Given the description of an element on the screen output the (x, y) to click on. 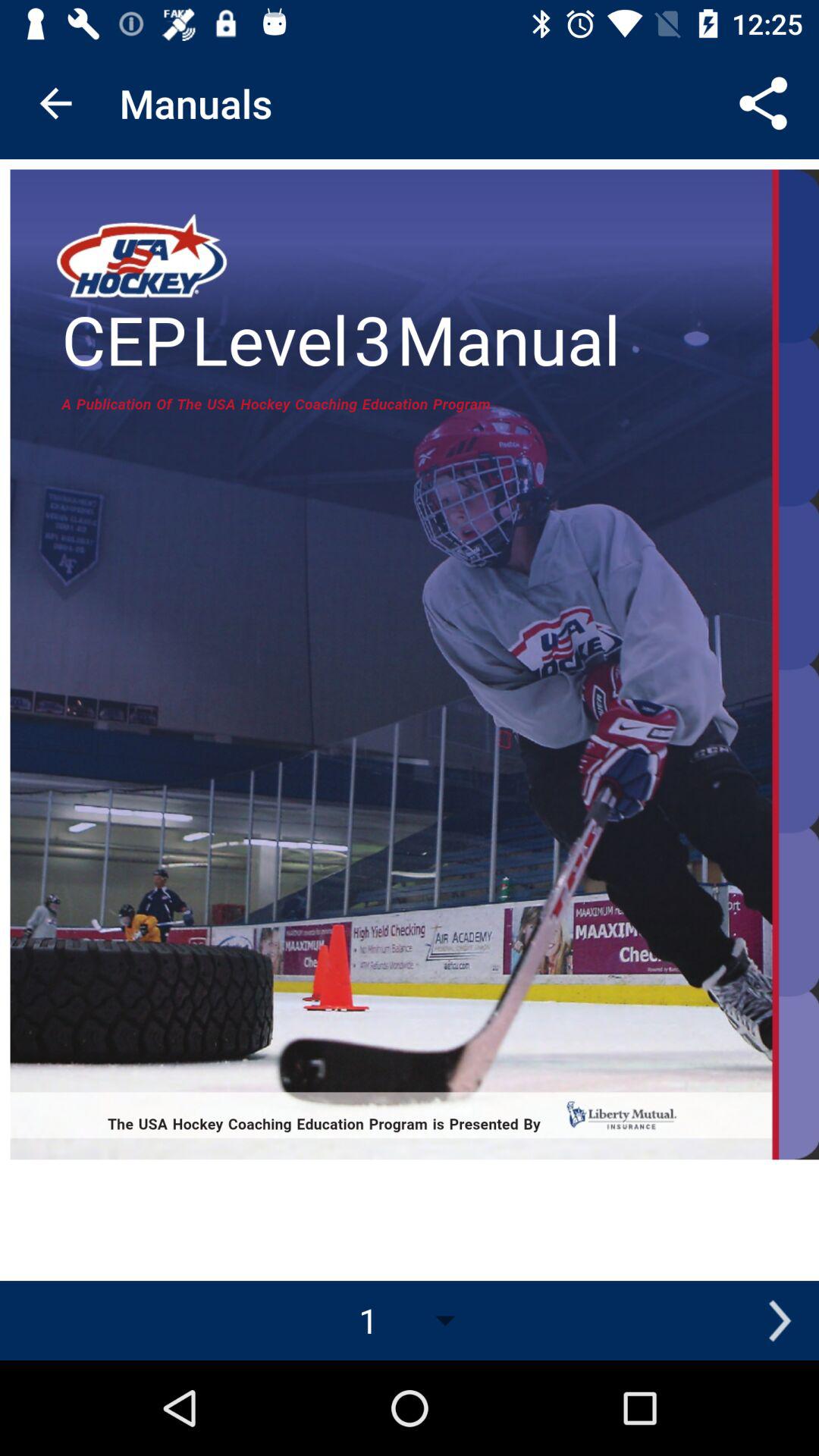
toggle next page (779, 1320)
